Given the description of an element on the screen output the (x, y) to click on. 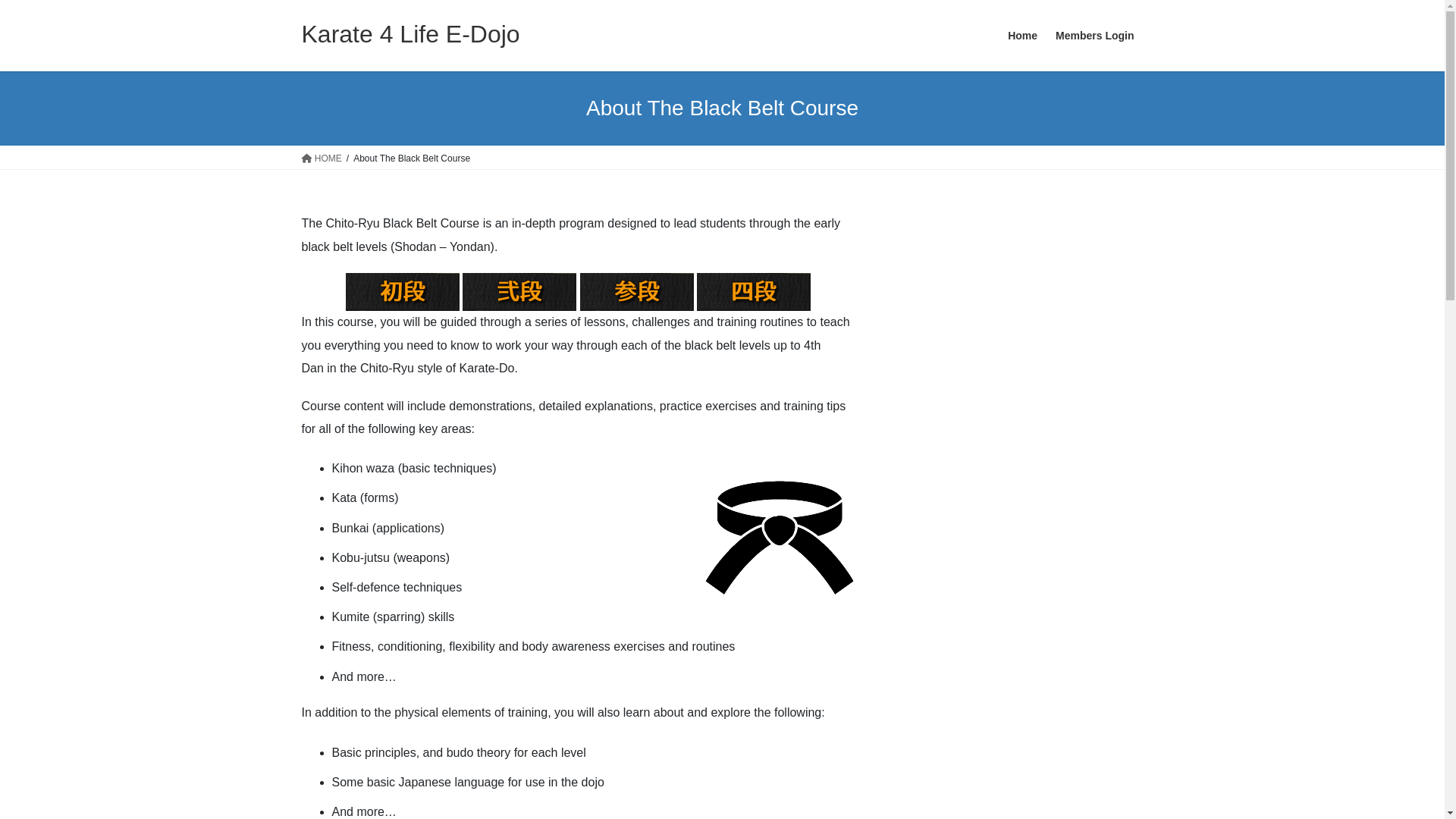
Members Login Element type: text (1094, 36)
Home Element type: text (1022, 36)
HOME Element type: text (321, 157)
Karate 4 Life E-Dojo Element type: text (410, 33)
